Given the description of an element on the screen output the (x, y) to click on. 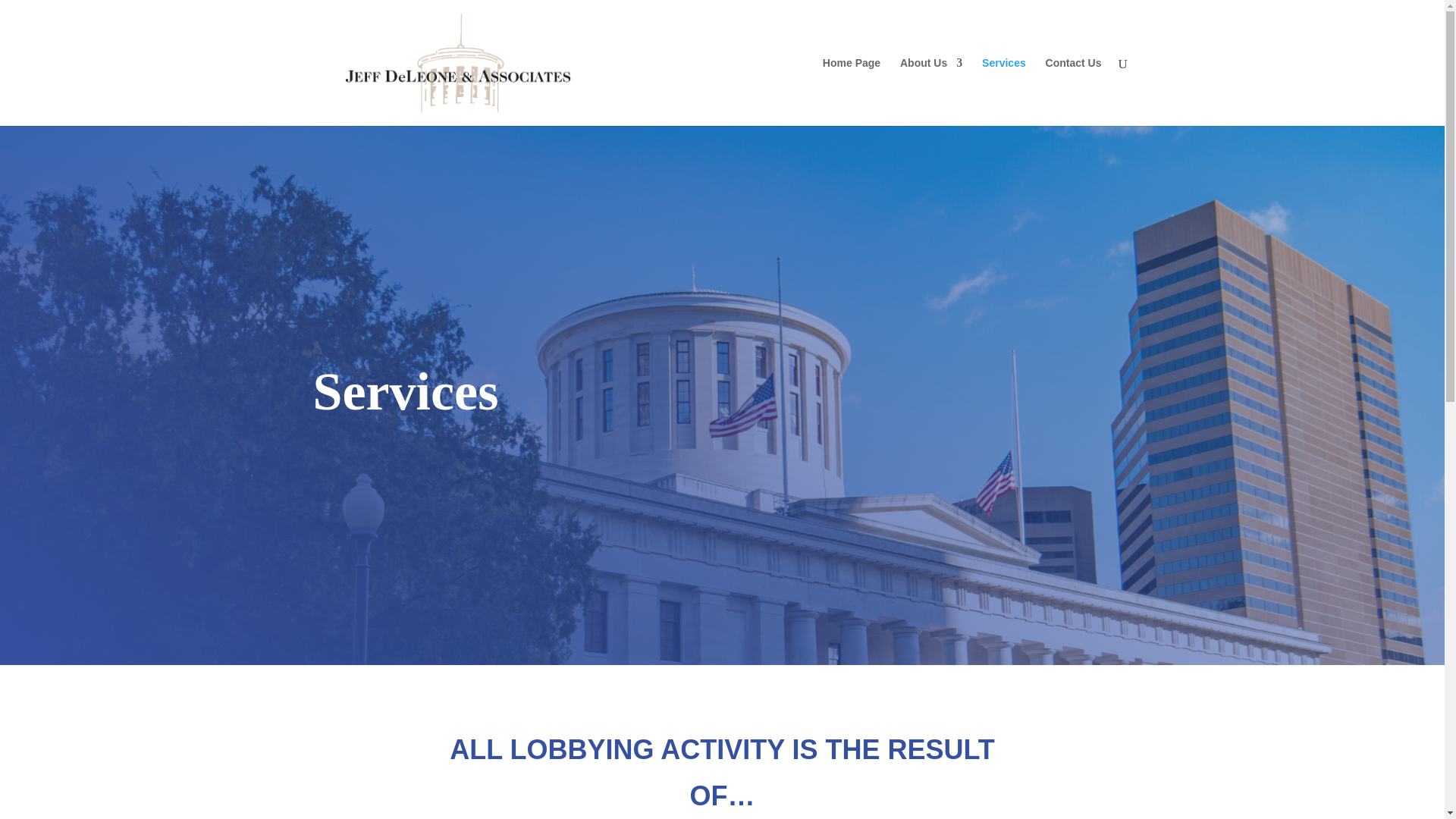
About Us (930, 91)
